Given the description of an element on the screen output the (x, y) to click on. 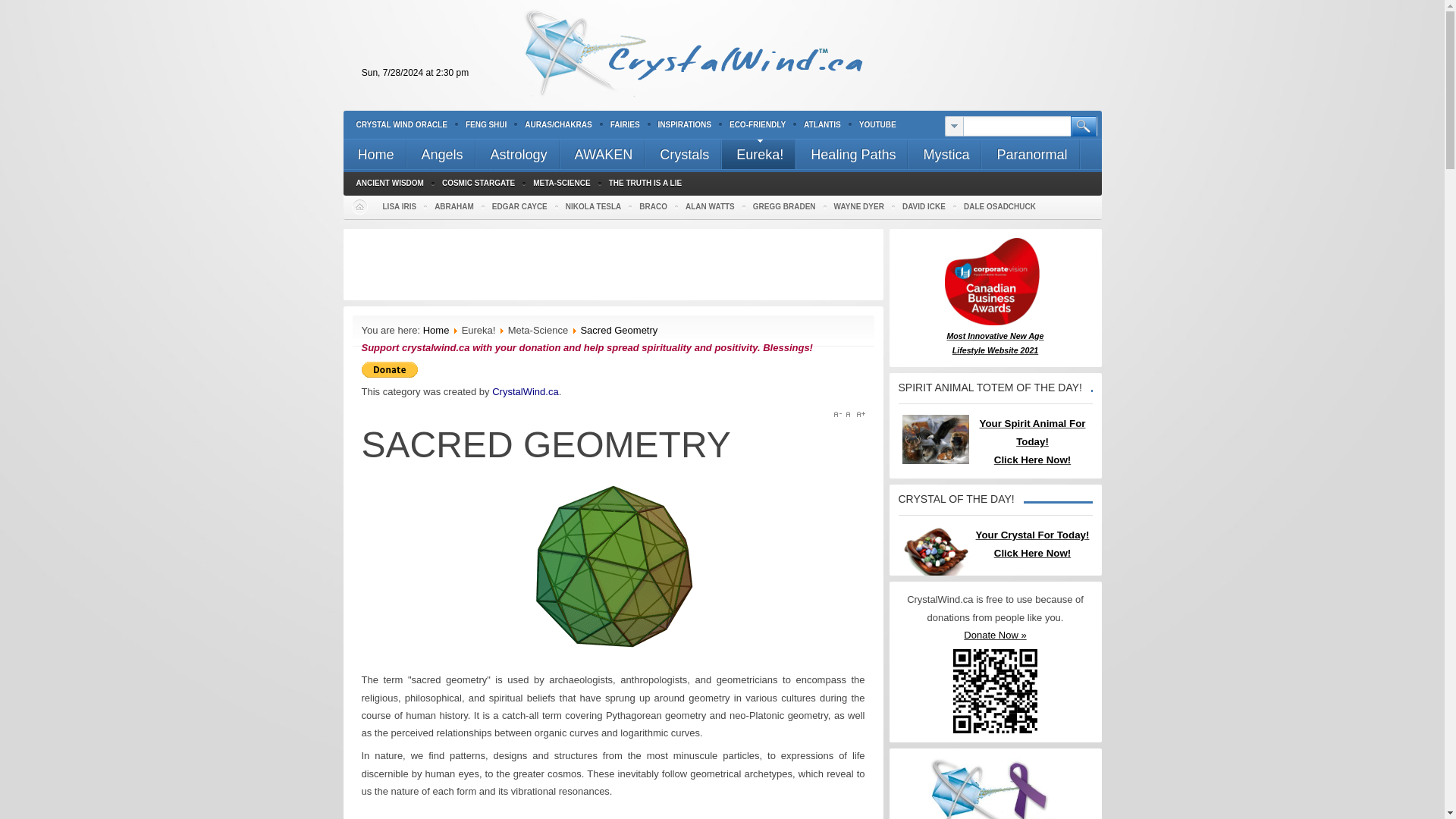
Astrology (518, 153)
Crystals (683, 153)
Pathfinder (387, 183)
ATLANTIS (822, 124)
News (463, 183)
FAIRIES (625, 124)
Healing Paths (852, 153)
Healing Paths (852, 153)
Astrology (518, 153)
Atlantis - The Lost Continent (822, 124)
Angels (441, 153)
INSPIRATIONS (684, 124)
Home (374, 153)
Pathfinder (387, 183)
